Given the description of an element on the screen output the (x, y) to click on. 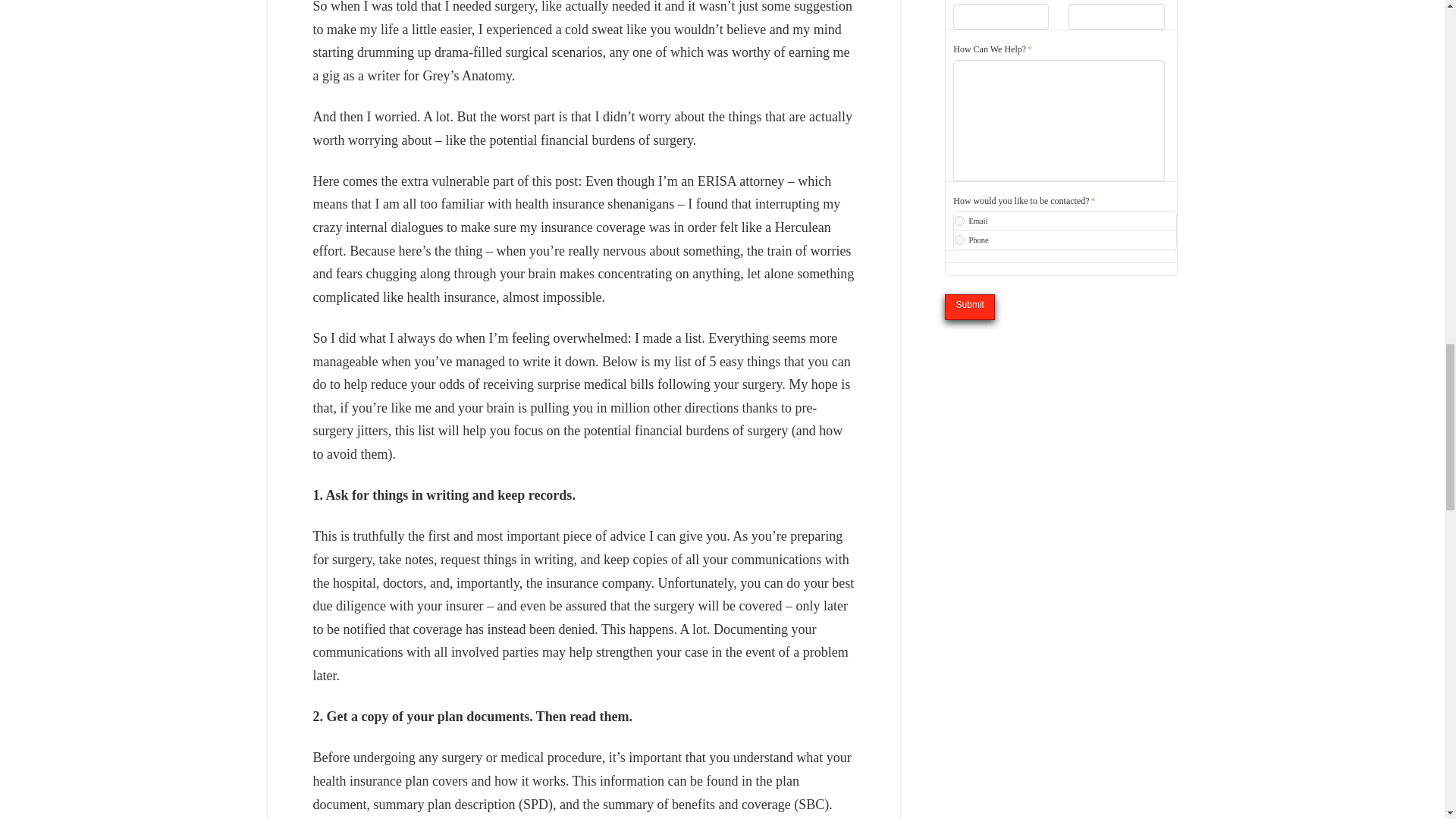
Submit (969, 307)
Phone (959, 239)
Email (959, 221)
